Given the description of an element on the screen output the (x, y) to click on. 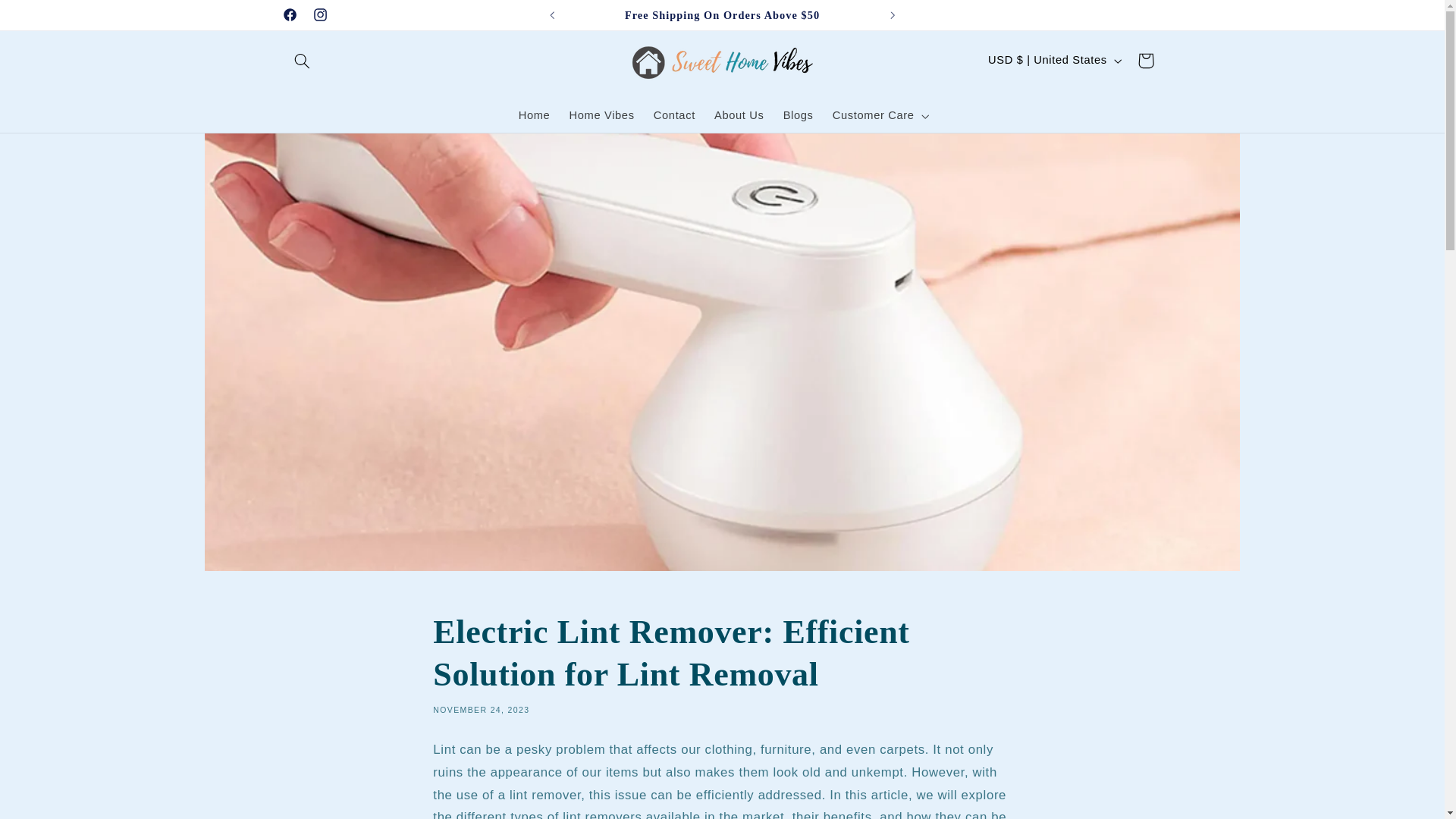
Facebook (289, 15)
Home (533, 115)
Instagram (319, 15)
Home Vibes (601, 115)
Skip to content (48, 18)
About Us (738, 115)
Blogs (797, 115)
Contact (673, 115)
